Given the description of an element on the screen output the (x, y) to click on. 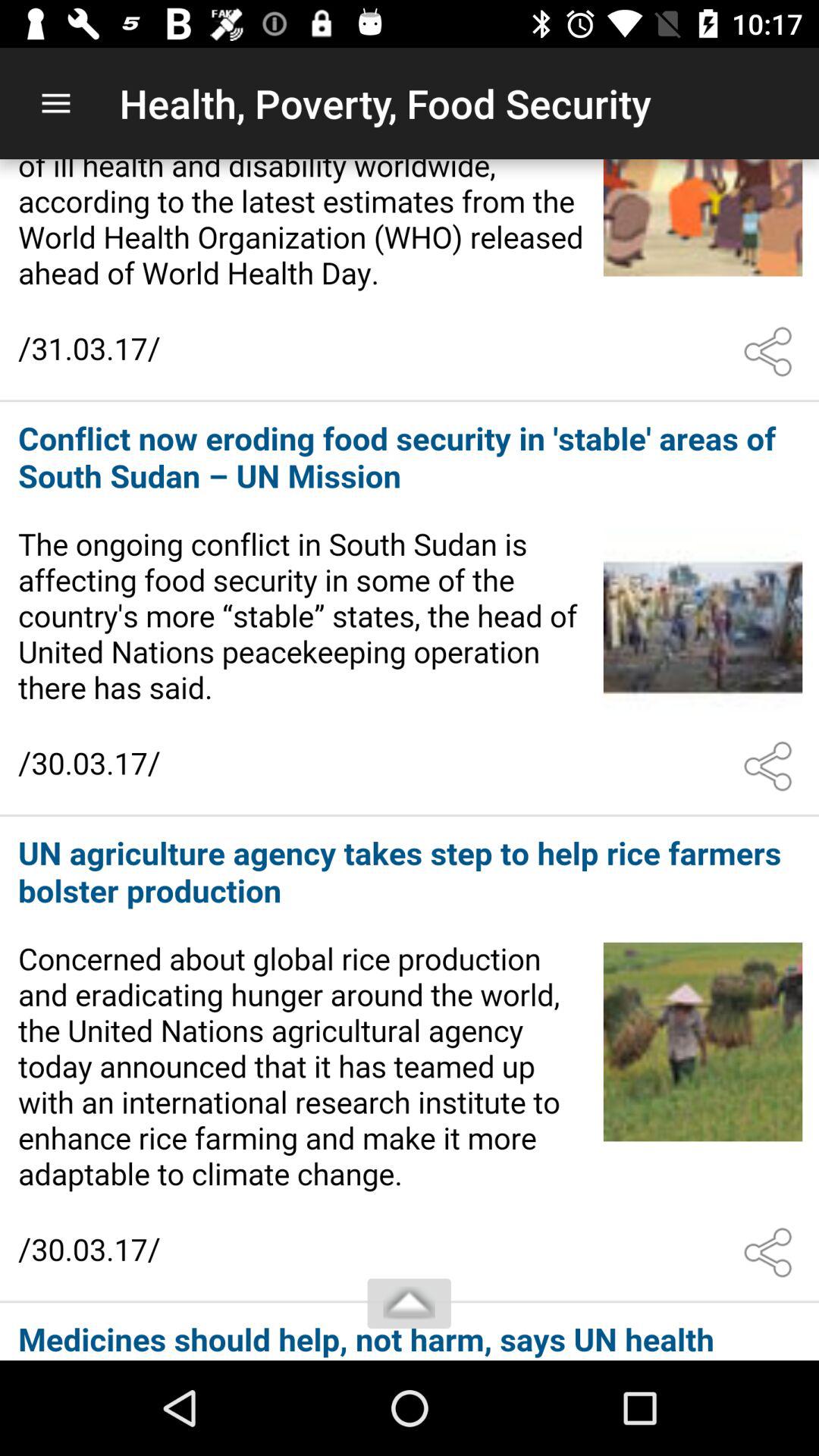
share article (771, 766)
